Given the description of an element on the screen output the (x, y) to click on. 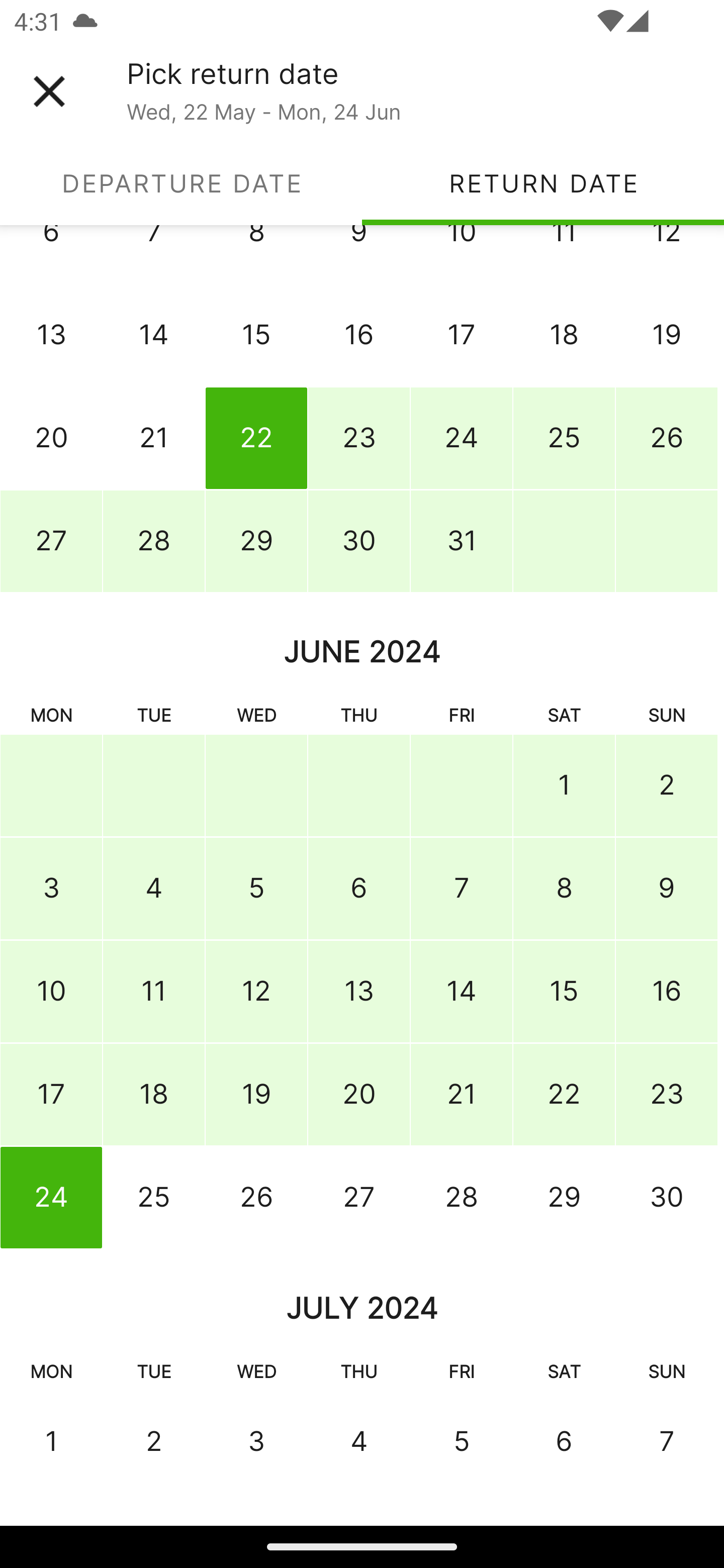
Departure Date DEPARTURE DATE (181, 183)
